Given the description of an element on the screen output the (x, y) to click on. 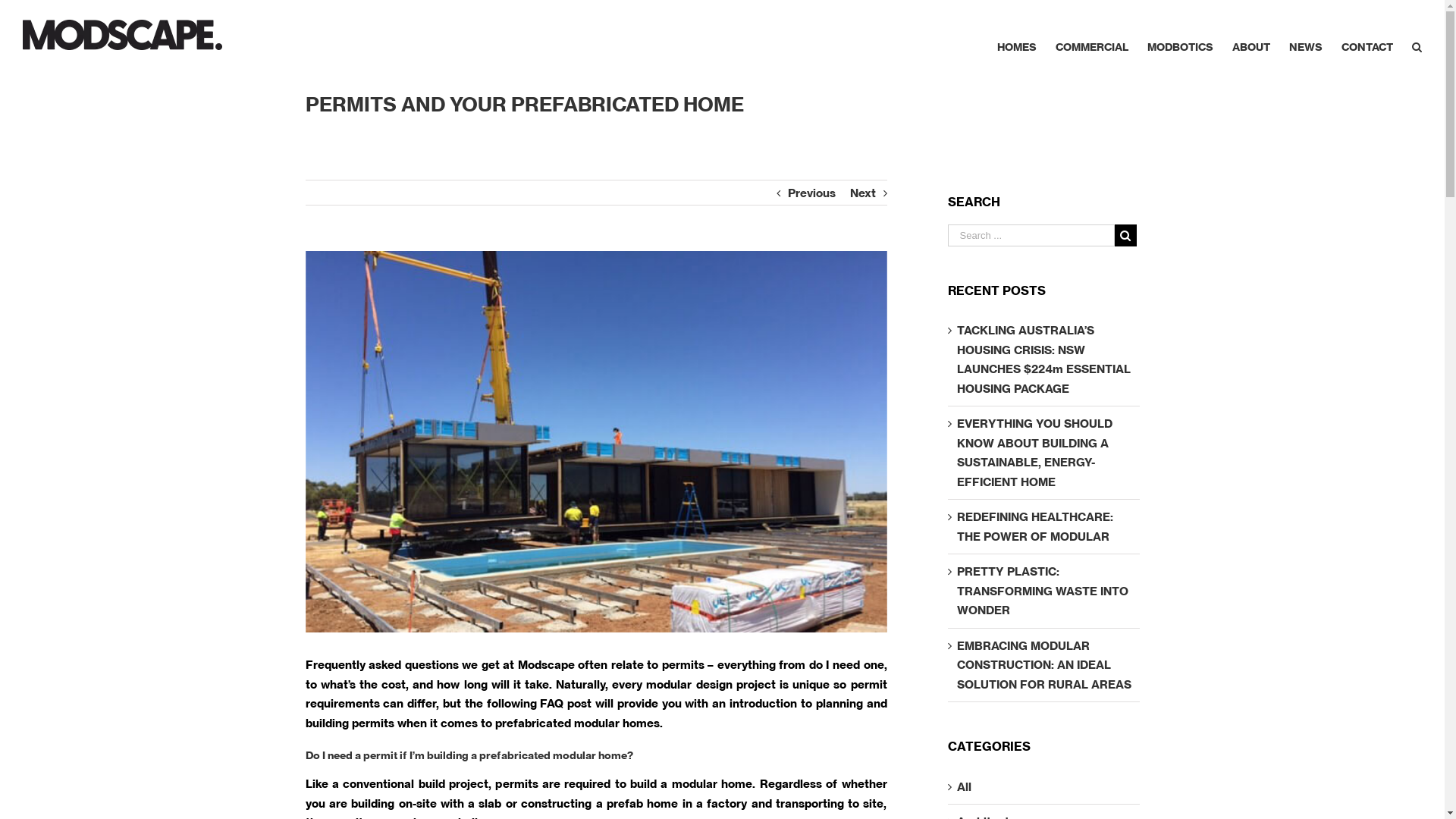
COMMERCIAL Element type: text (1091, 36)
PRETTY PLASTIC: TRANSFORMING WASTE INTO WONDER Element type: text (1042, 590)
HOMES Element type: text (1016, 36)
ABOUT Element type: text (1251, 36)
Previous Element type: text (810, 193)
View Larger Image Element type: text (595, 441)
All Element type: text (1044, 787)
NEWS Element type: text (1305, 36)
MODBOTICS Element type: text (1180, 36)
Next Element type: text (862, 193)
Search Element type: hover (1416, 36)
CONTACT Element type: text (1367, 36)
REDEFINING HEALTHCARE: THE POWER OF MODULAR Element type: text (1035, 526)
